Given the description of an element on the screen output the (x, y) to click on. 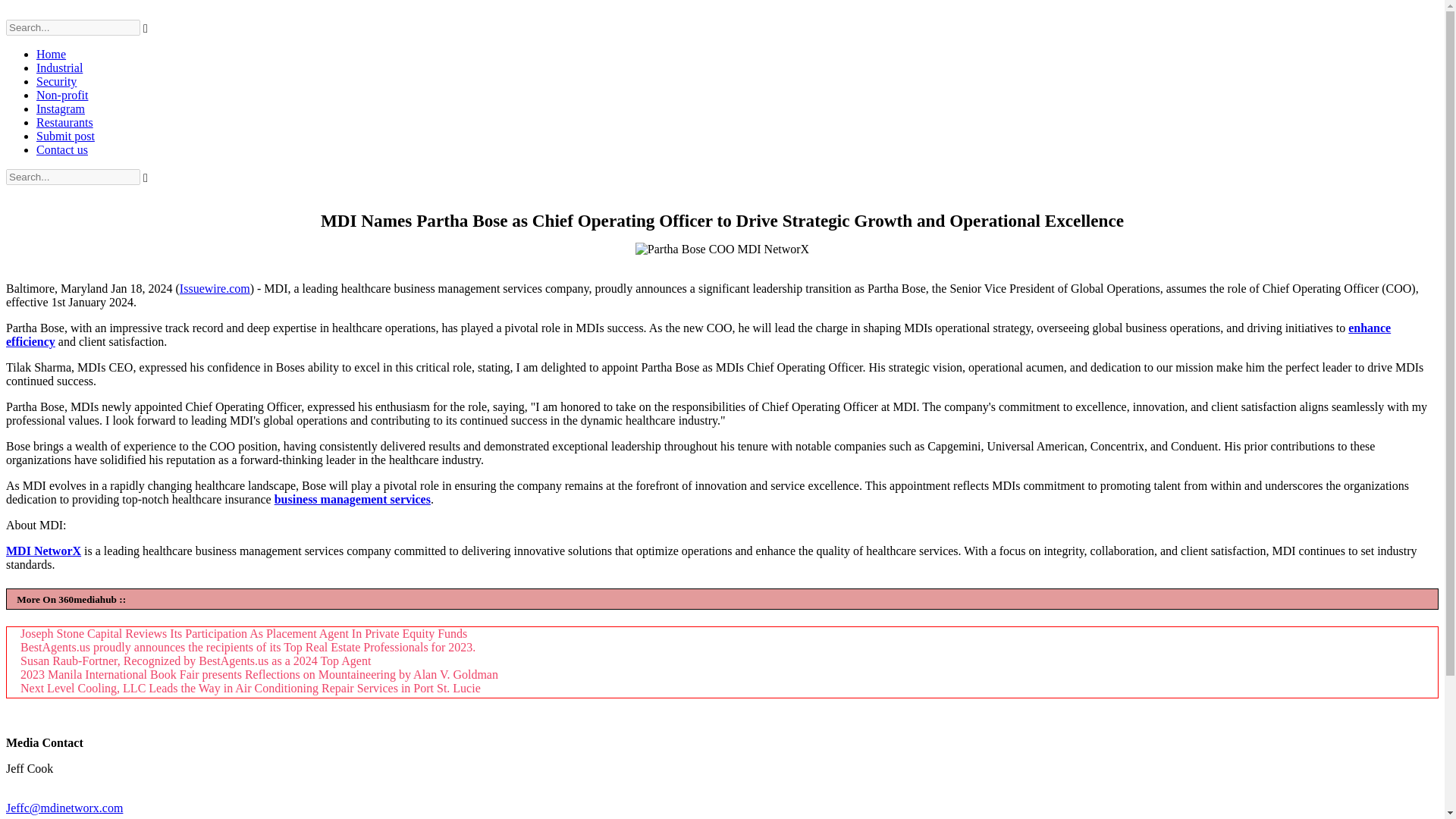
Instagram (60, 108)
MDI NetworX (43, 550)
Security (56, 81)
Home (50, 53)
Contact us (61, 149)
